Given the description of an element on the screen output the (x, y) to click on. 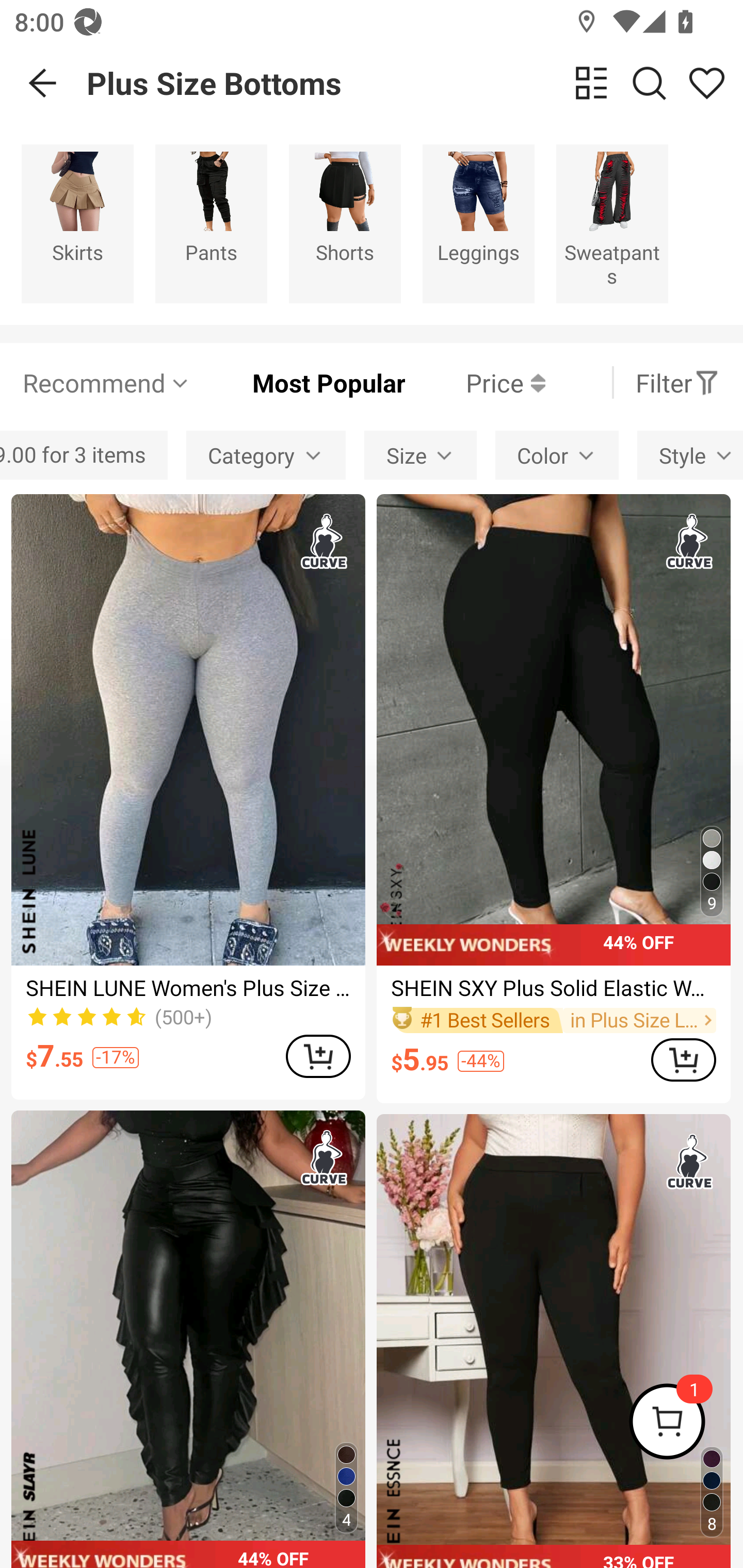
Plus Size Bottoms change view Search Share (414, 82)
change view (591, 82)
Search (648, 82)
Share (706, 82)
Skirts (77, 223)
Pants (211, 223)
Shorts (345, 223)
Leggings (478, 223)
Sweatpants (611, 223)
Recommend (106, 382)
Most Popular (297, 382)
Price (474, 382)
Filter (677, 382)
$19.00 for 3 items (83, 455)
Category (265, 455)
Size (420, 455)
Color (556, 455)
Style (690, 455)
#1 Best Sellers in Plus Size Leggings (553, 1019)
ADD TO CART (318, 1056)
ADD TO CART (683, 1059)
